Given the description of an element on the screen output the (x, y) to click on. 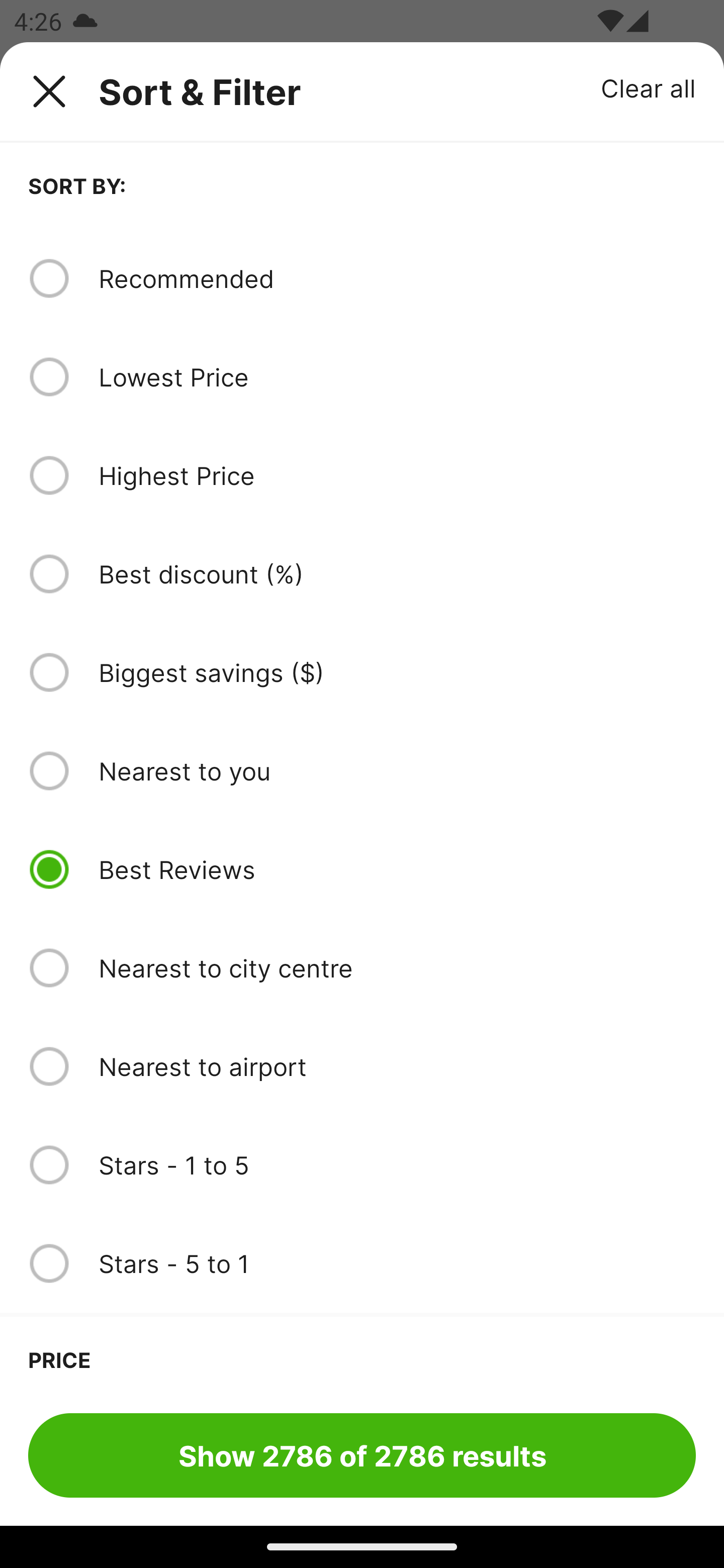
Clear all (648, 87)
Recommended  (396, 278)
Lowest Price (396, 377)
Highest Price (396, 474)
Best discount (%) (396, 573)
Biggest savings ($) (396, 672)
Nearest to you (396, 770)
Best Reviews (396, 869)
Nearest to city centre (396, 968)
Nearest to airport (396, 1065)
Stars - 1 to 5 (396, 1164)
Stars - 5 to 1 (396, 1263)
Show 2786 of 2786 results (361, 1454)
